Given the description of an element on the screen output the (x, y) to click on. 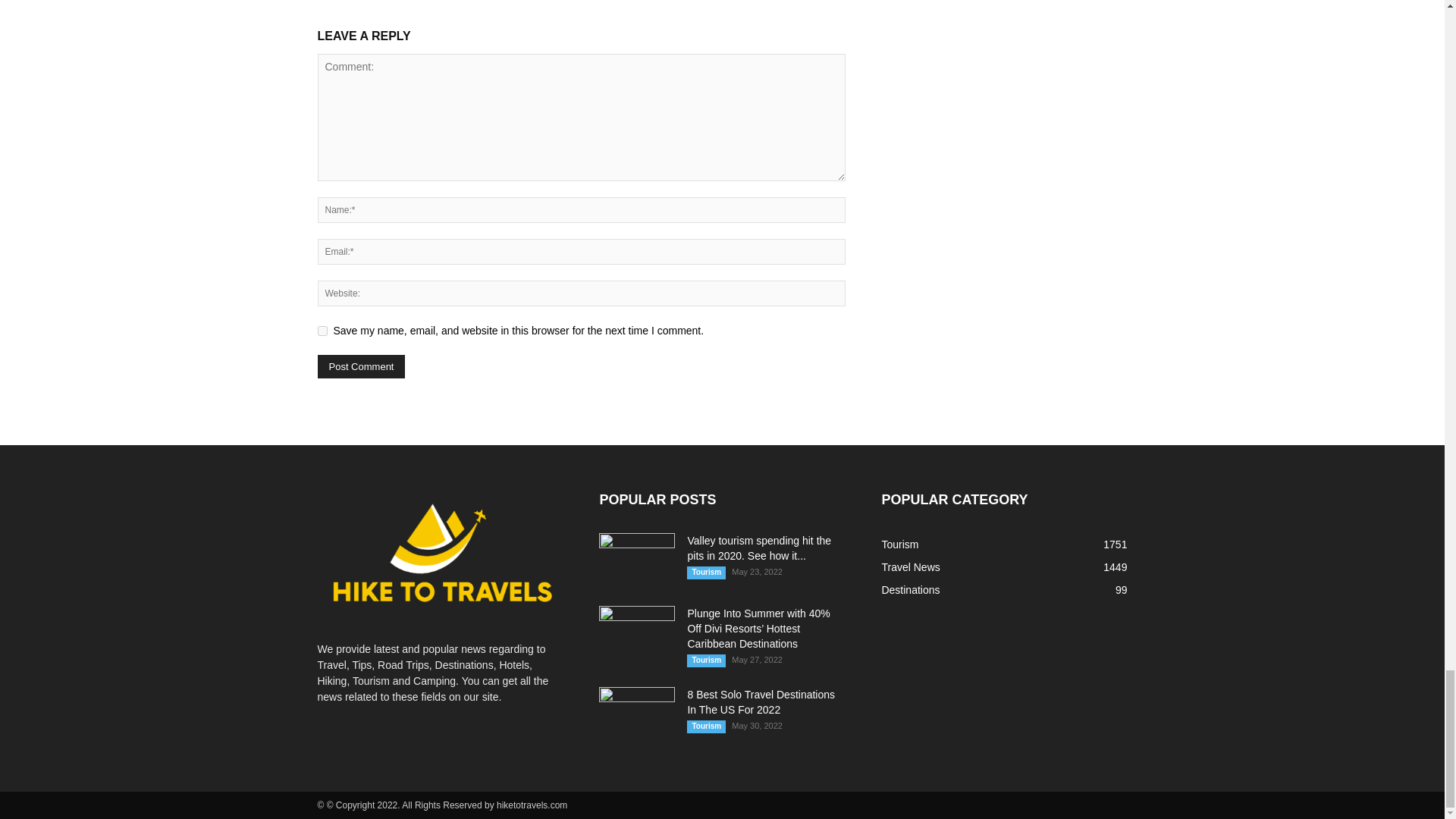
Post Comment (360, 365)
yes (321, 329)
